Given the description of an element on the screen output the (x, y) to click on. 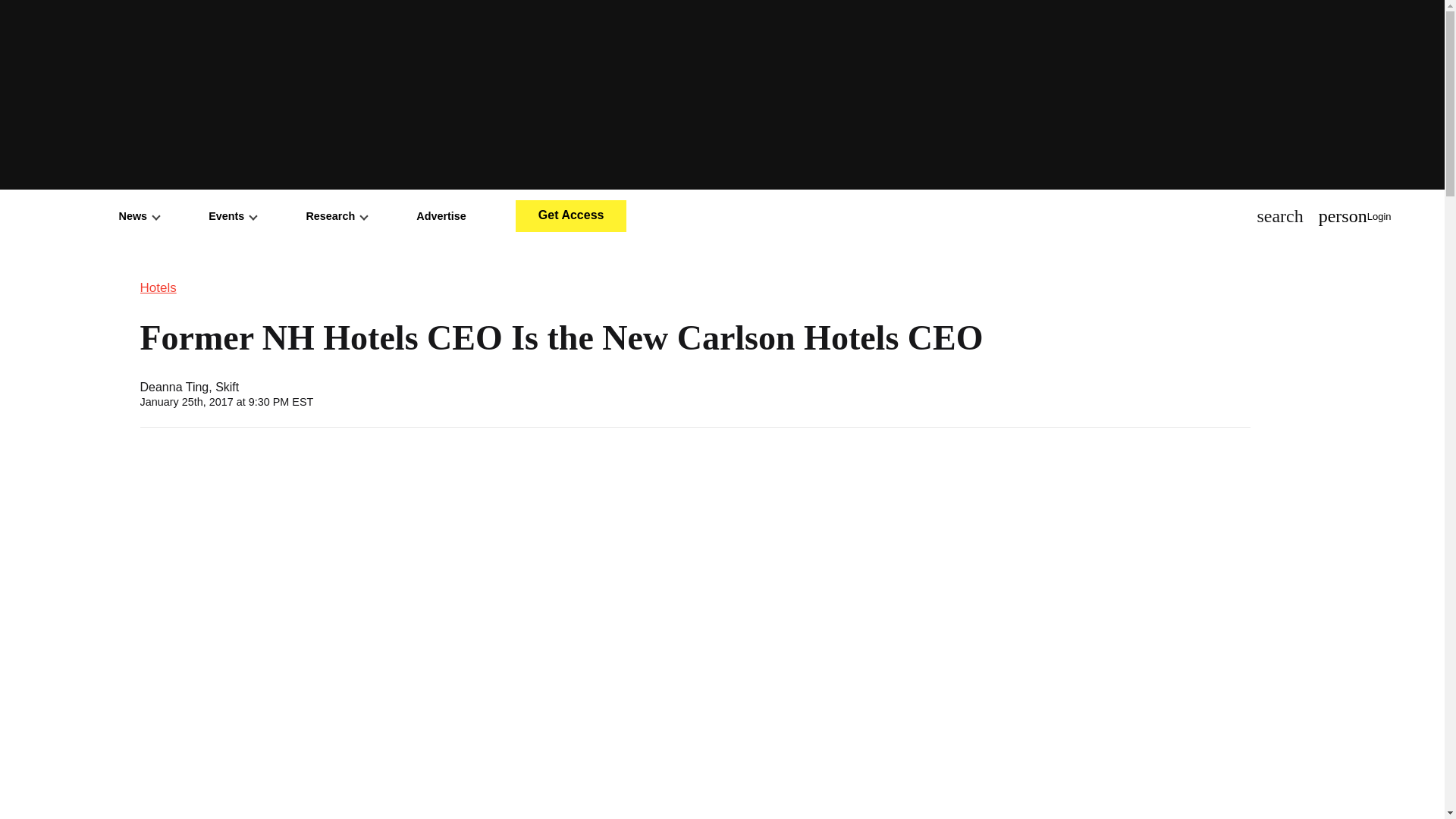
News (139, 215)
Events (232, 215)
Research (335, 215)
